Given the description of an element on the screen output the (x, y) to click on. 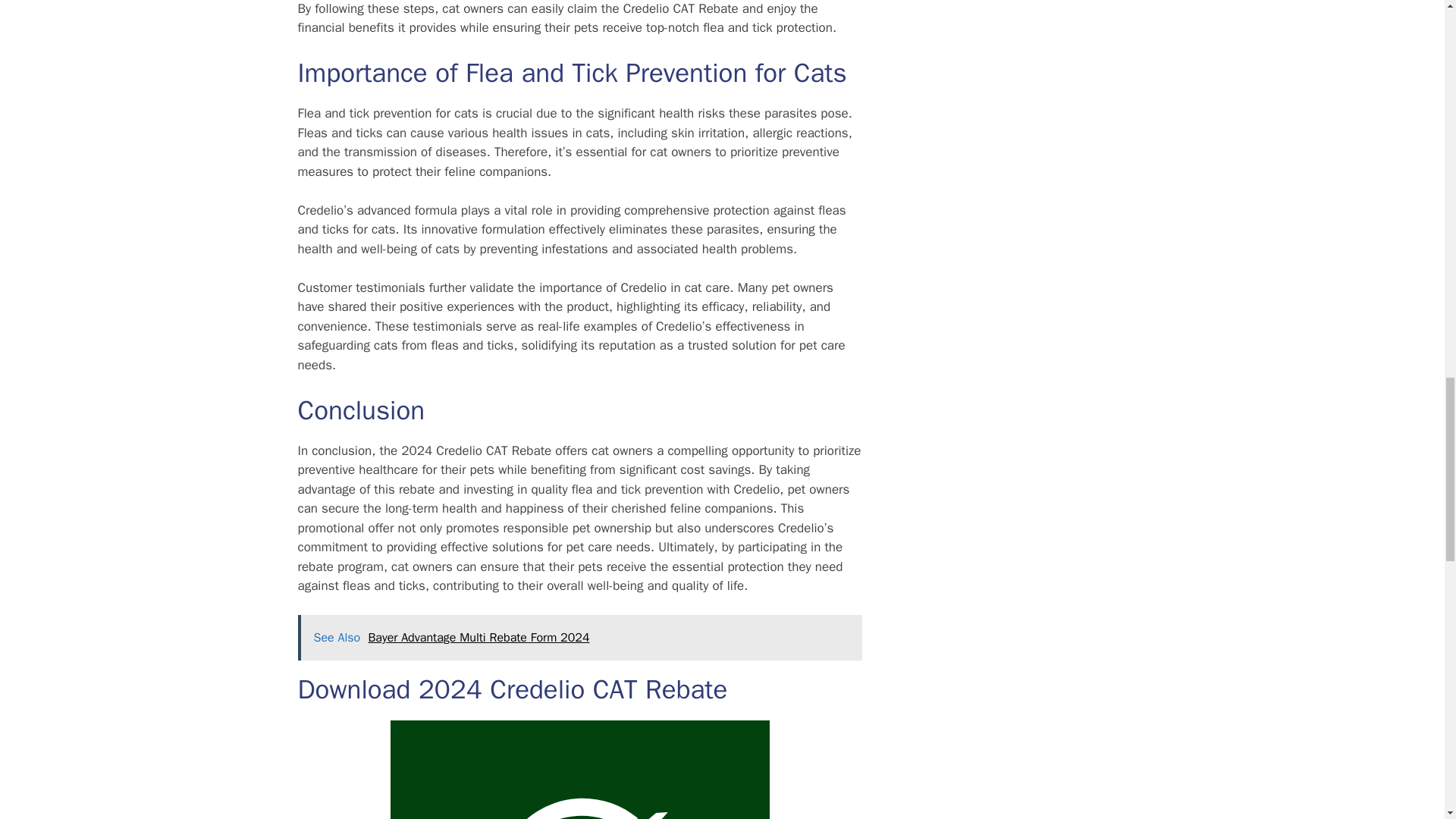
See Also  Bayer Advantage Multi Rebate Form 2024 (579, 637)
2024 Credelio CAT Rebate 1 (579, 769)
